Given the description of an element on the screen output the (x, y) to click on. 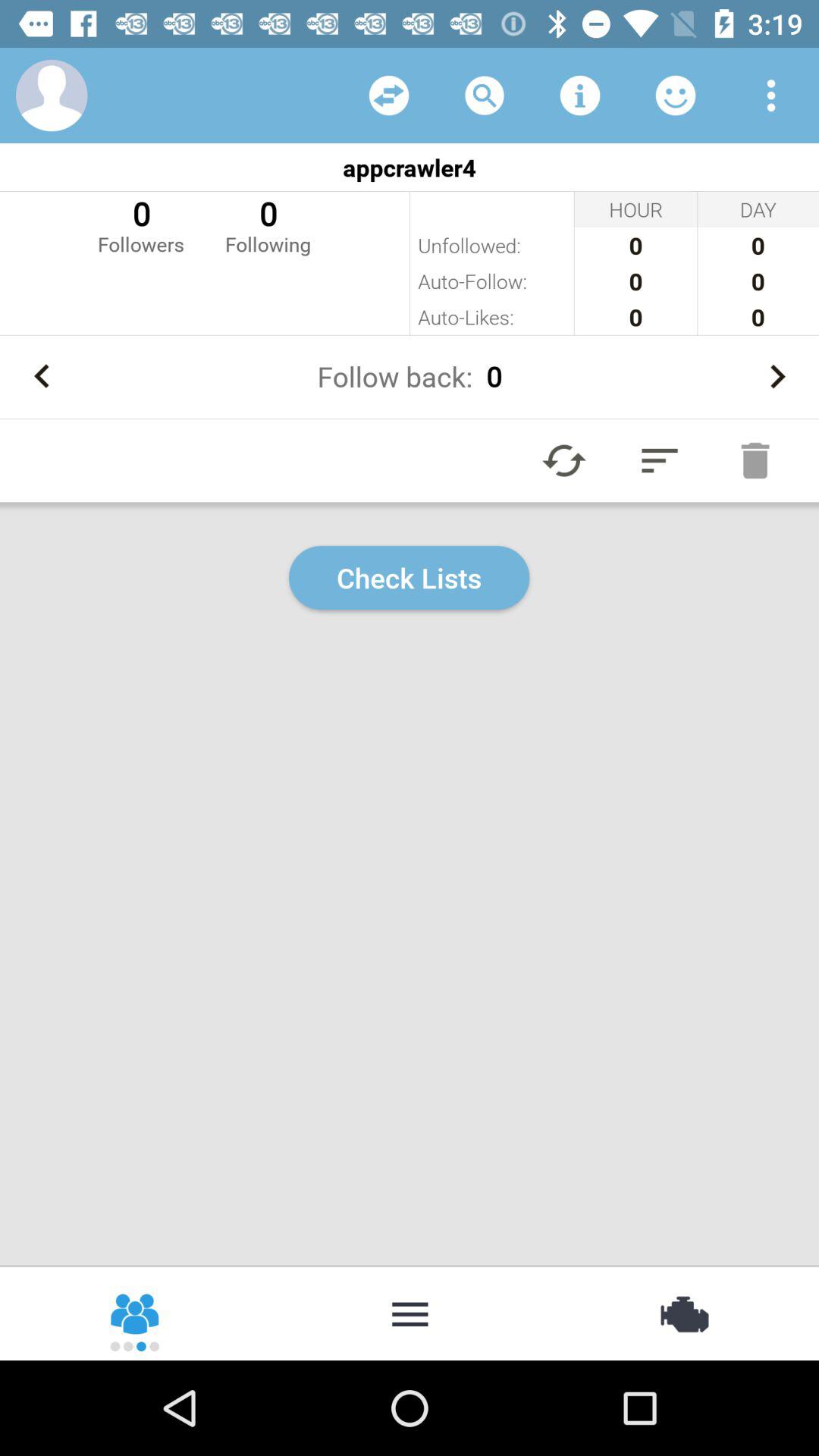
toggle options menu (771, 95)
